Given the description of an element on the screen output the (x, y) to click on. 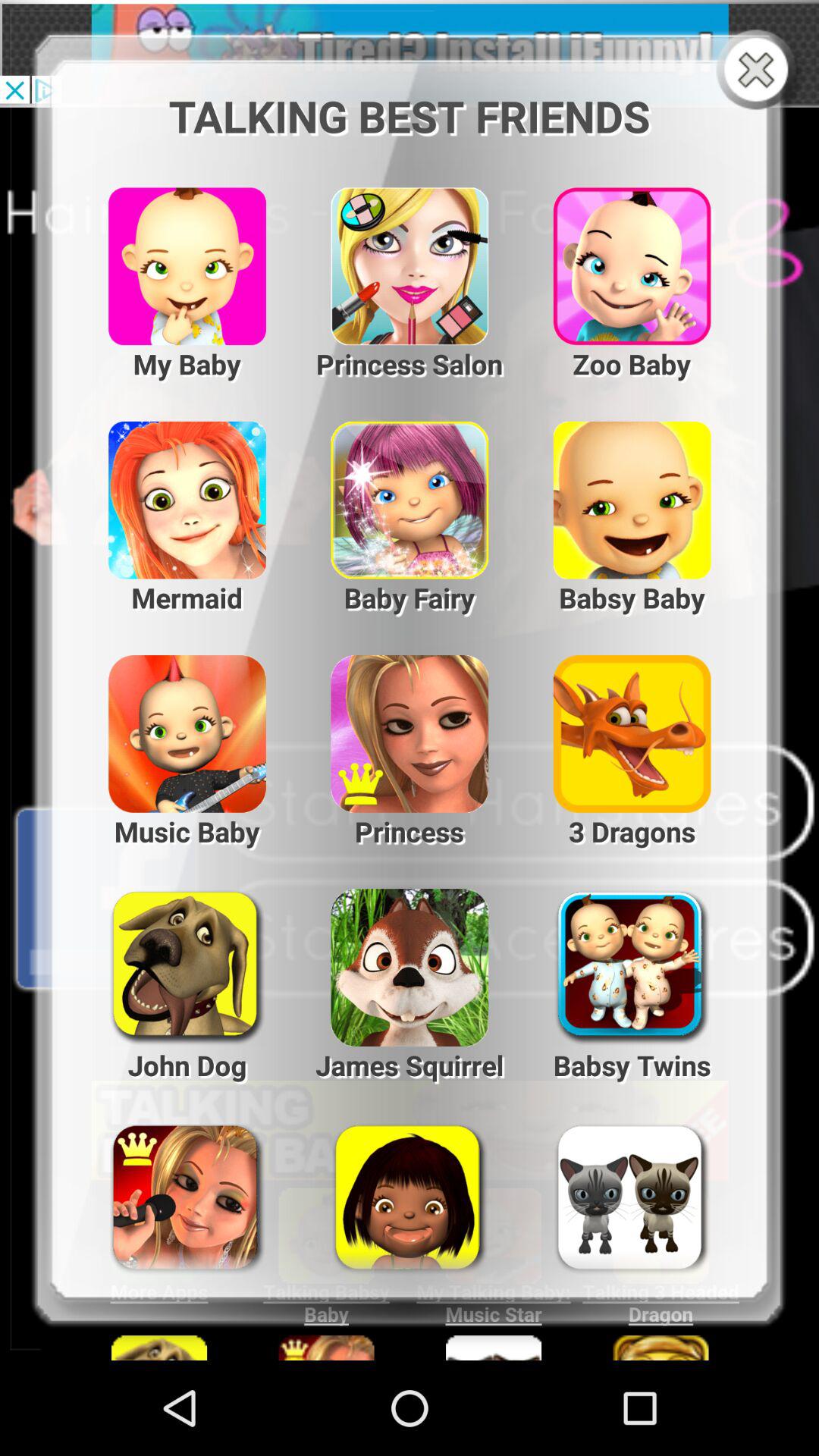
close page (759, 71)
